Given the description of an element on the screen output the (x, y) to click on. 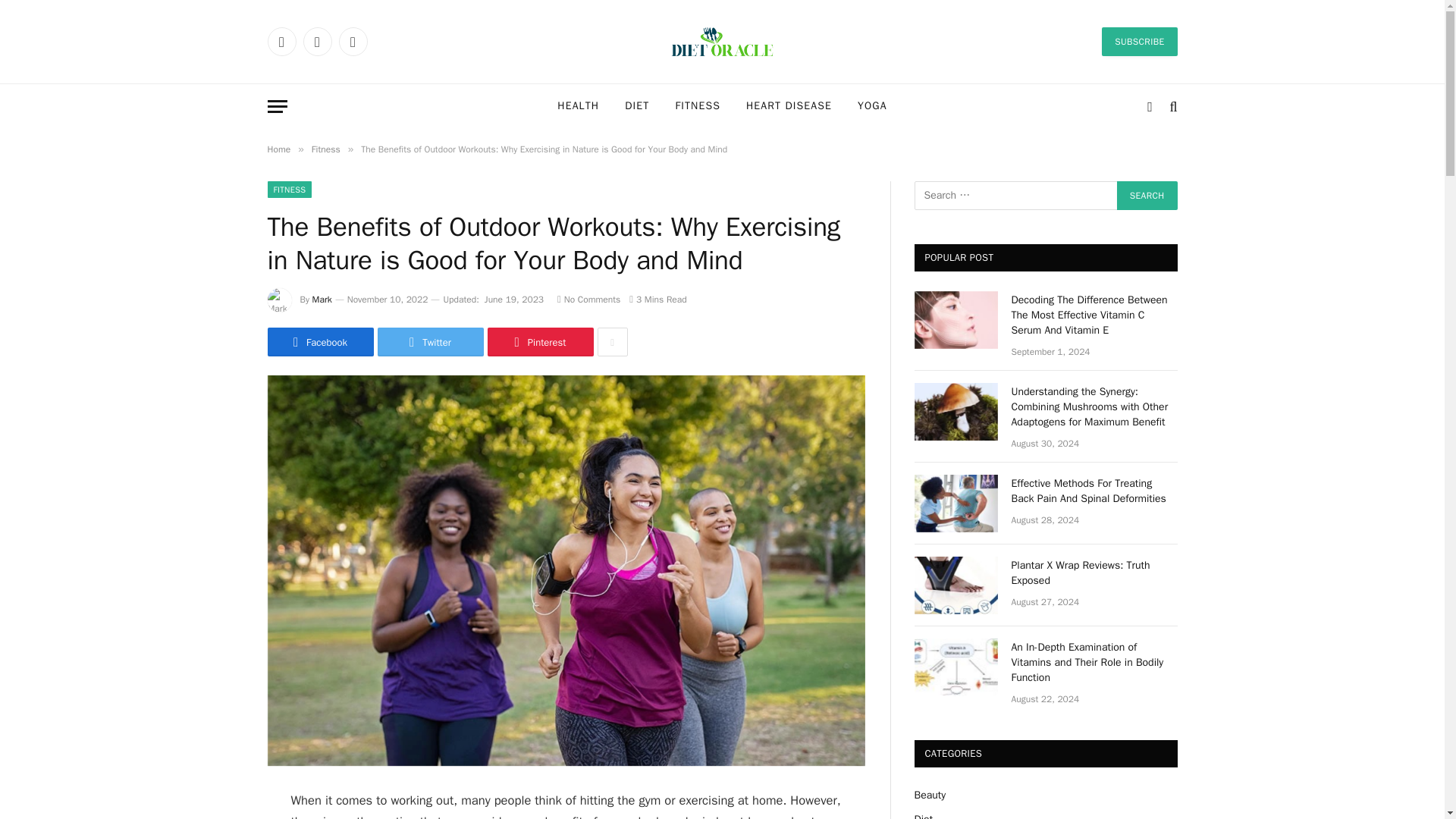
Pinterest (539, 341)
Search (1146, 194)
Share on Facebook (319, 341)
No Comments (588, 299)
Twitter (430, 341)
Facebook (280, 41)
Share on Pinterest (539, 341)
HEALTH (577, 106)
FITNESS (697, 106)
Show More Social Sharing (611, 341)
